Given the description of an element on the screen output the (x, y) to click on. 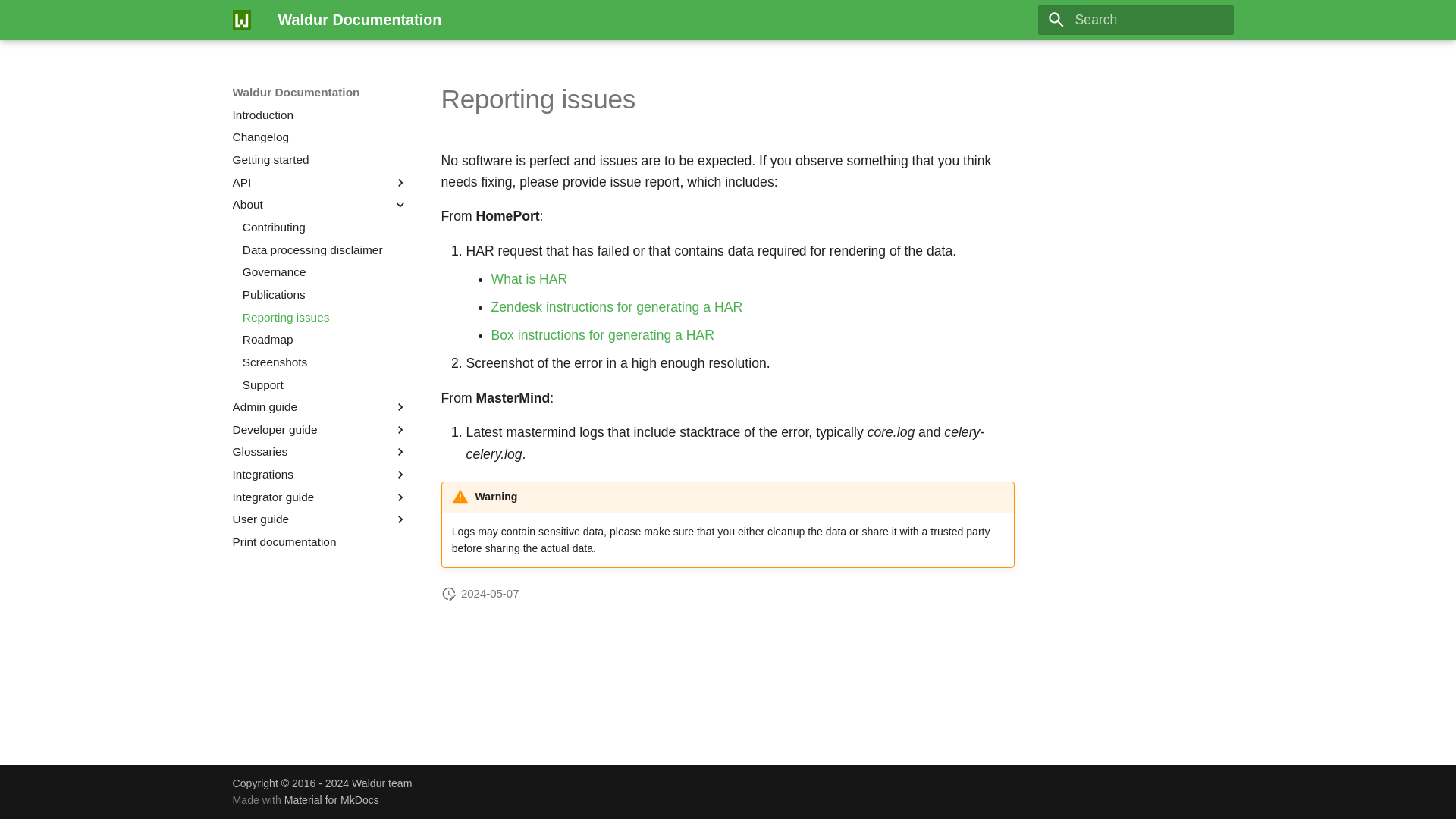
Getting started (319, 159)
Governance (325, 272)
Roadmap (325, 339)
Data processing disclaimer (325, 249)
Publications (325, 294)
Support (325, 385)
Reporting issues (325, 317)
Screenshots (325, 362)
Introduction (319, 114)
Last update (449, 593)
Changelog (319, 136)
Waldur Documentation (241, 19)
Contributing (325, 227)
